Given the description of an element on the screen output the (x, y) to click on. 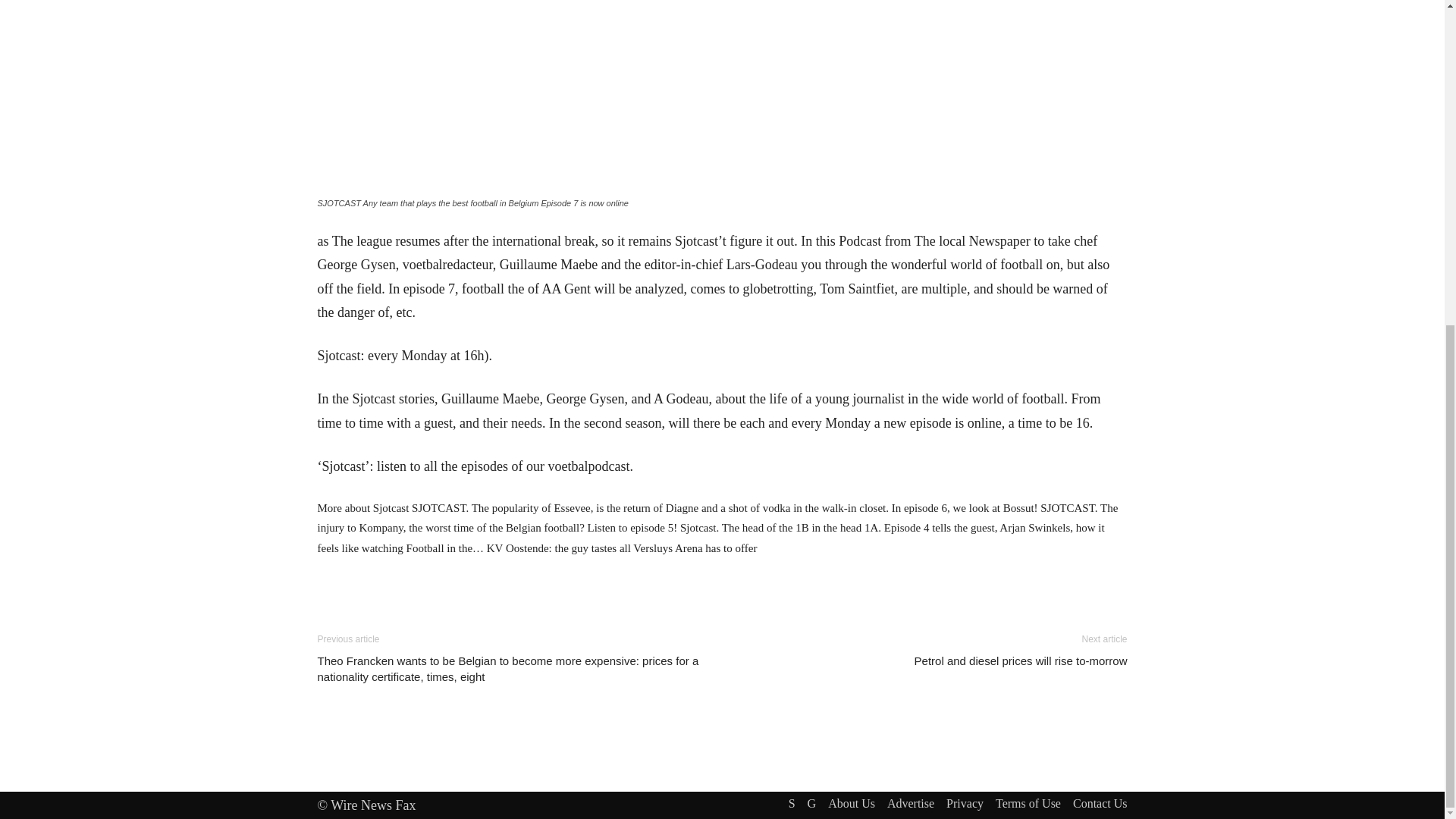
Terms of Use (1028, 803)
Advertise (910, 803)
Advertisement (721, 580)
Privacy (965, 803)
Contact Us (1099, 803)
About Us (851, 803)
Petrol and diesel prices will rise to-morrow (1020, 660)
